Given the description of an element on the screen output the (x, y) to click on. 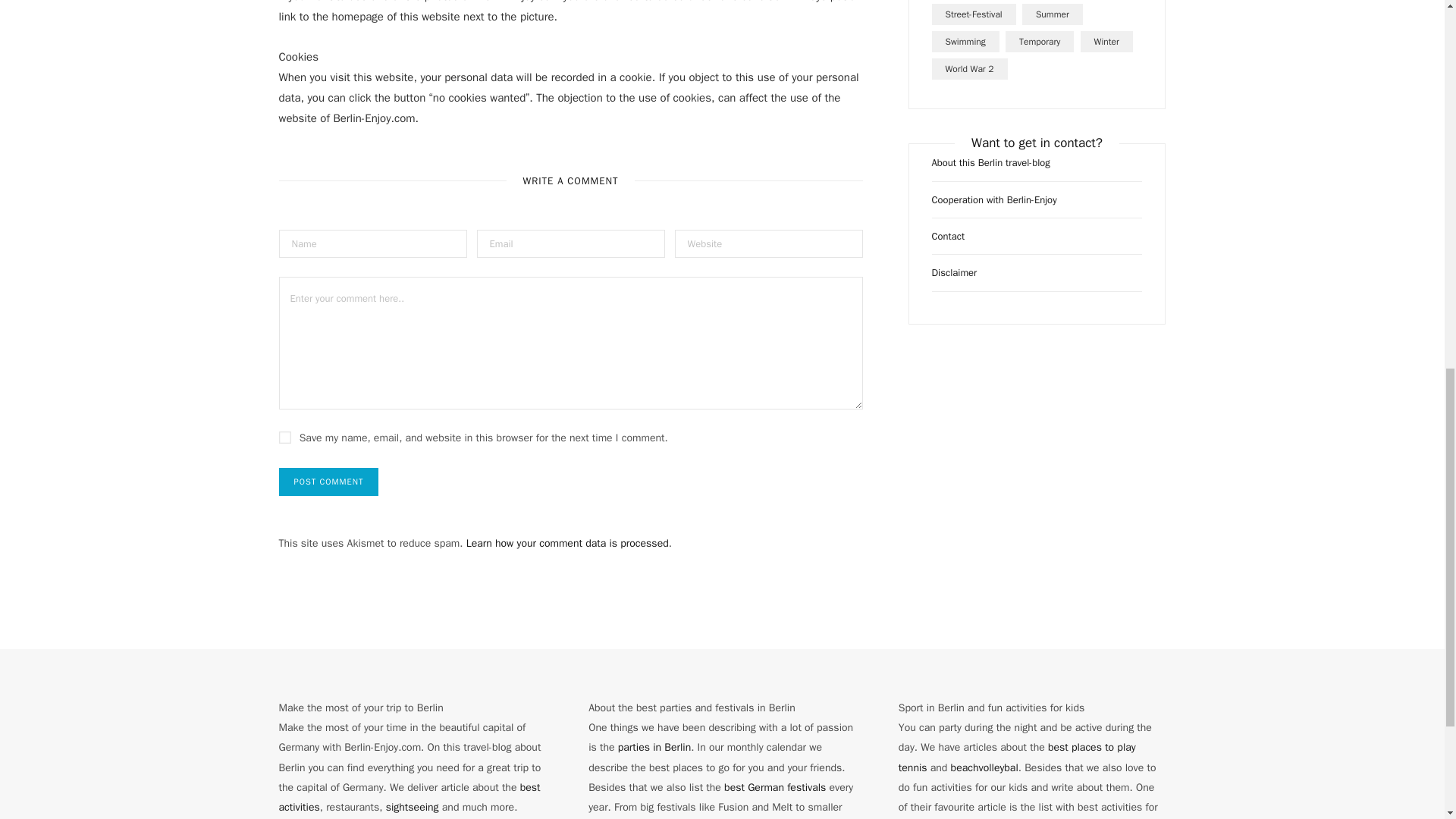
Post Comment (328, 481)
Learn how your comment data is processed (566, 543)
yes (285, 437)
Post Comment (328, 481)
